Given the description of an element on the screen output the (x, y) to click on. 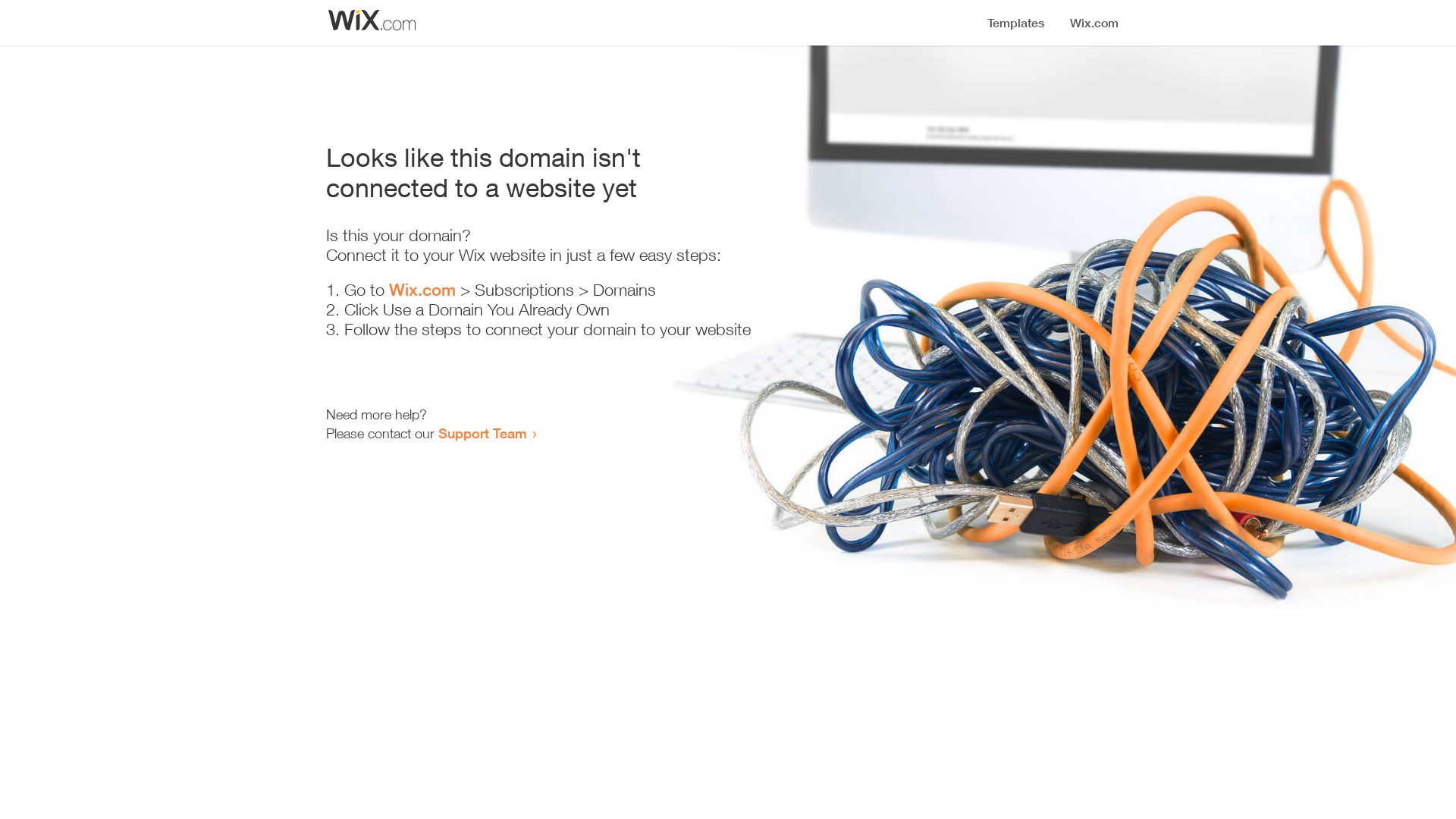
Wix.com Element type: text (422, 289)
Support Team Element type: text (482, 432)
